Given the description of an element on the screen output the (x, y) to click on. 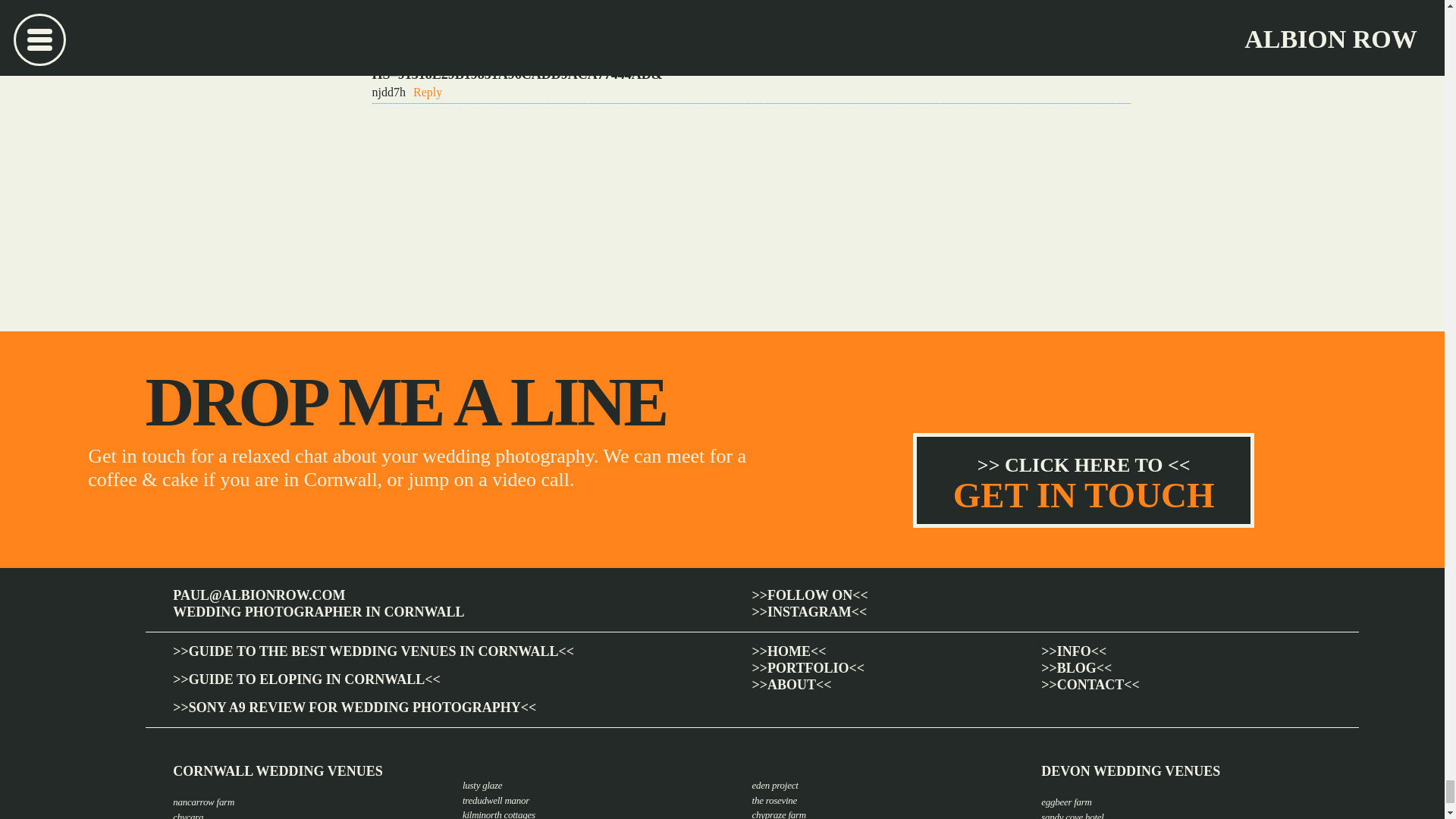
Reply (427, 30)
wedding photography at polhawn fort (255, 205)
Reply (427, 91)
